Given the description of an element on the screen output the (x, y) to click on. 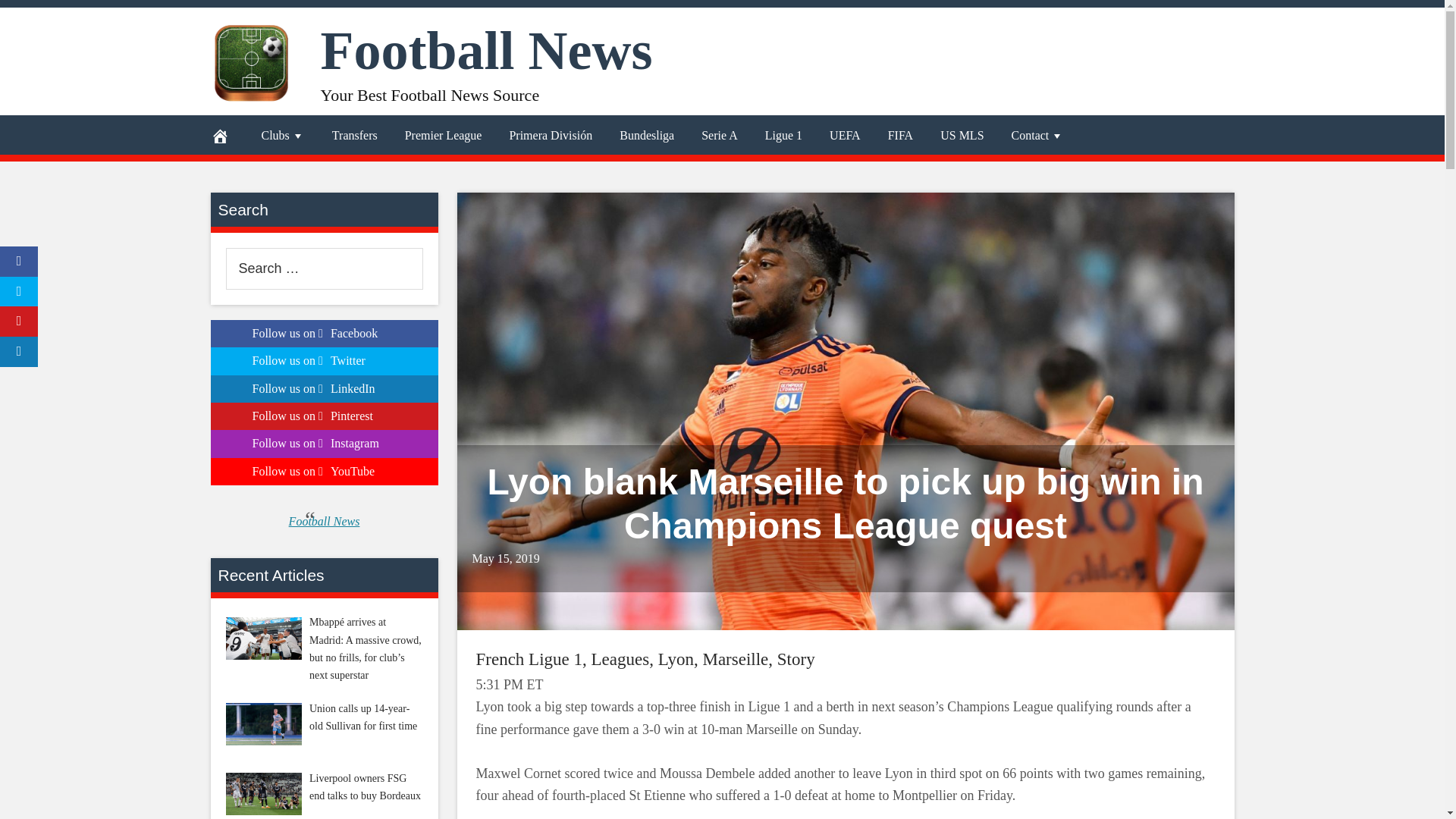
Football News (486, 49)
Lyon (676, 659)
Marseille (734, 659)
Story (796, 659)
Leagues (620, 659)
French Ligue 1 (529, 659)
Clubs (282, 135)
